Given the description of an element on the screen output the (x, y) to click on. 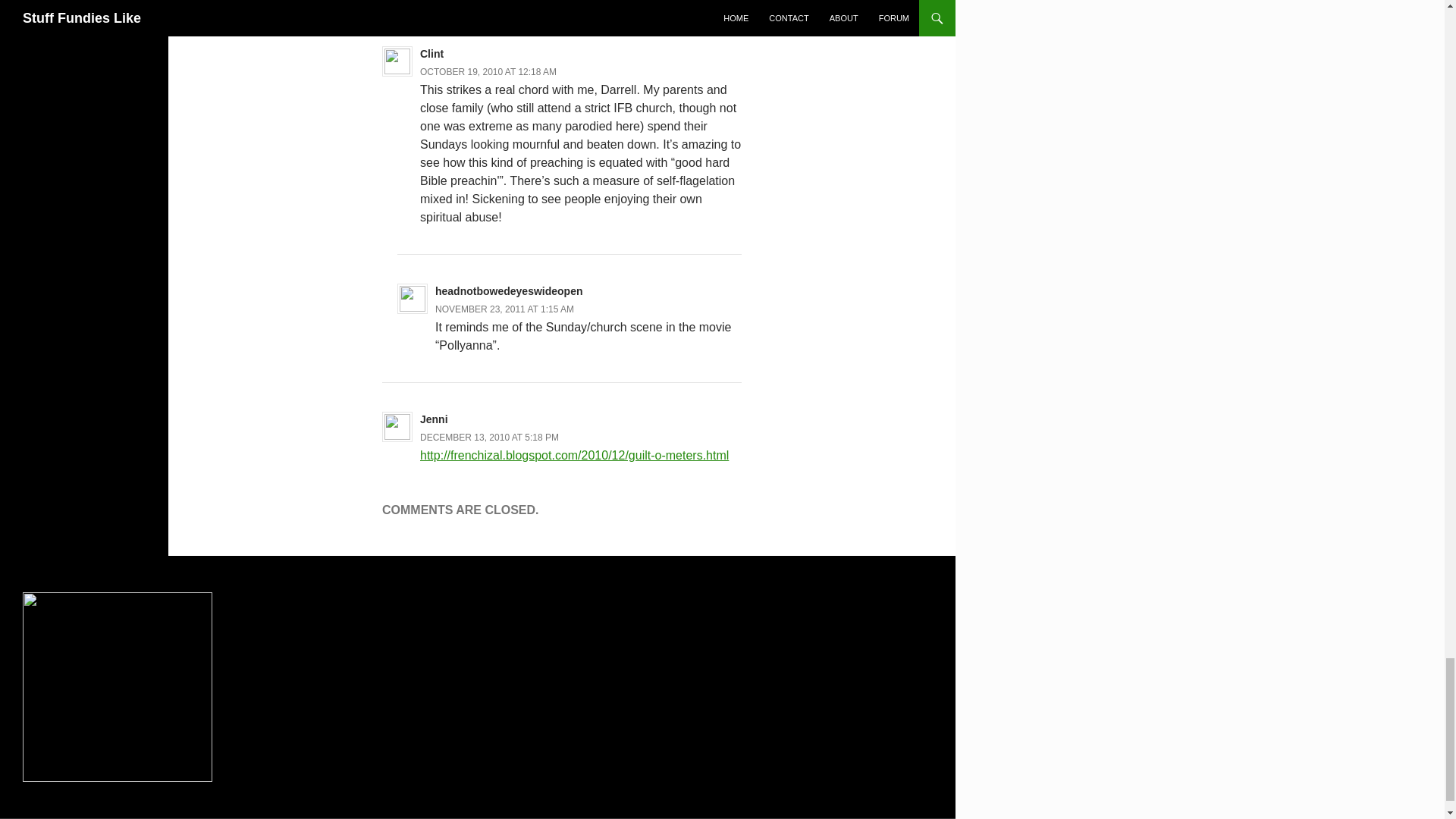
Jenni (434, 419)
NOVEMBER 23, 2011 AT 1:15 AM (504, 308)
OCTOBER 19, 2010 AT 12:18 AM (488, 71)
DECEMBER 13, 2010 AT 5:18 PM (489, 437)
Clint (432, 53)
